Given the description of an element on the screen output the (x, y) to click on. 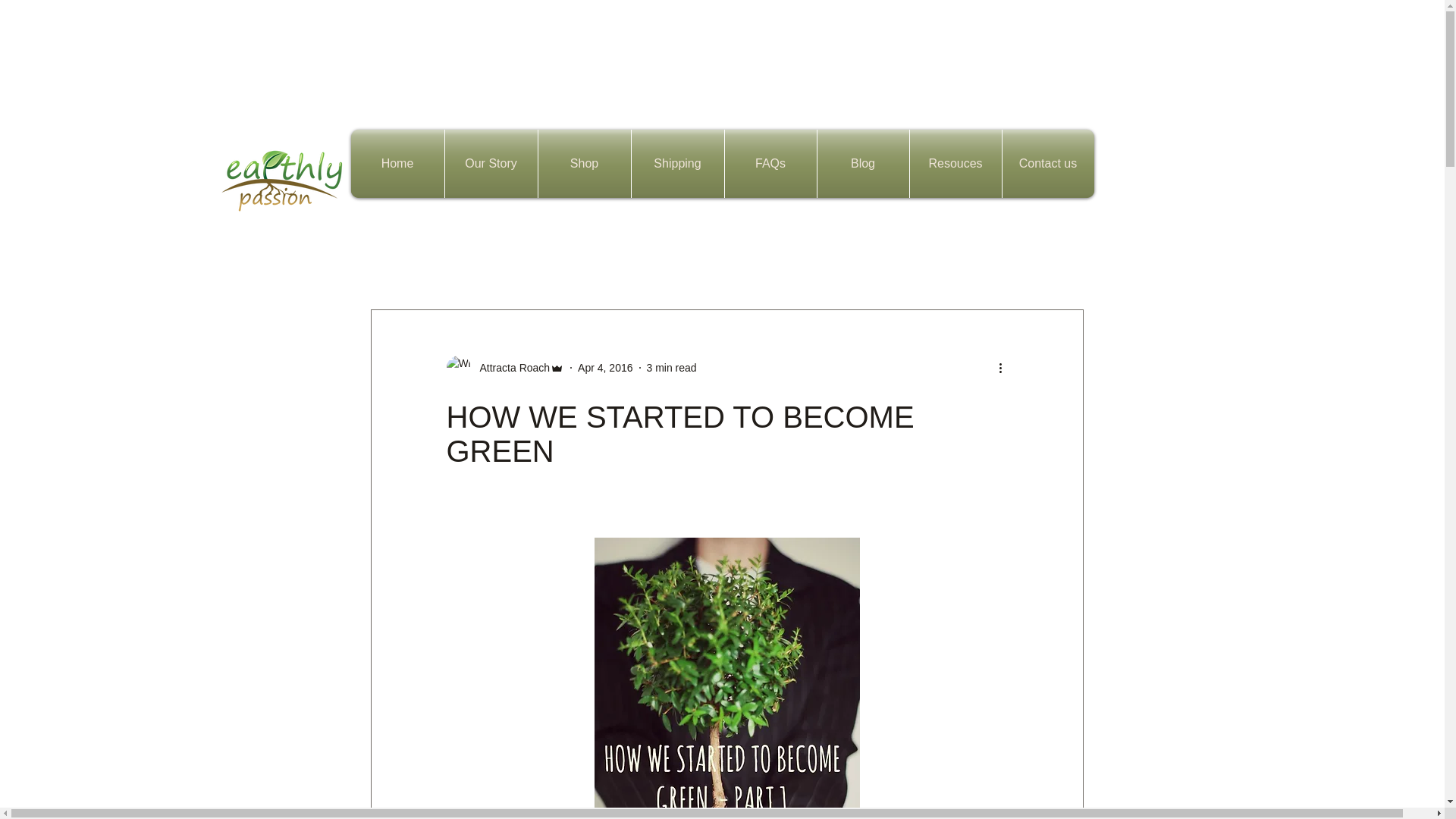
Home (809, 263)
Eco-Friendly cleaning (972, 263)
Shipping (676, 163)
Contact us (1048, 163)
Attracta Roach (510, 367)
Garden (871, 263)
Reducing Waste (592, 263)
Eco-friendly tips (483, 263)
Eco-friendly Children (713, 263)
3 min read (670, 367)
